Given the description of an element on the screen output the (x, y) to click on. 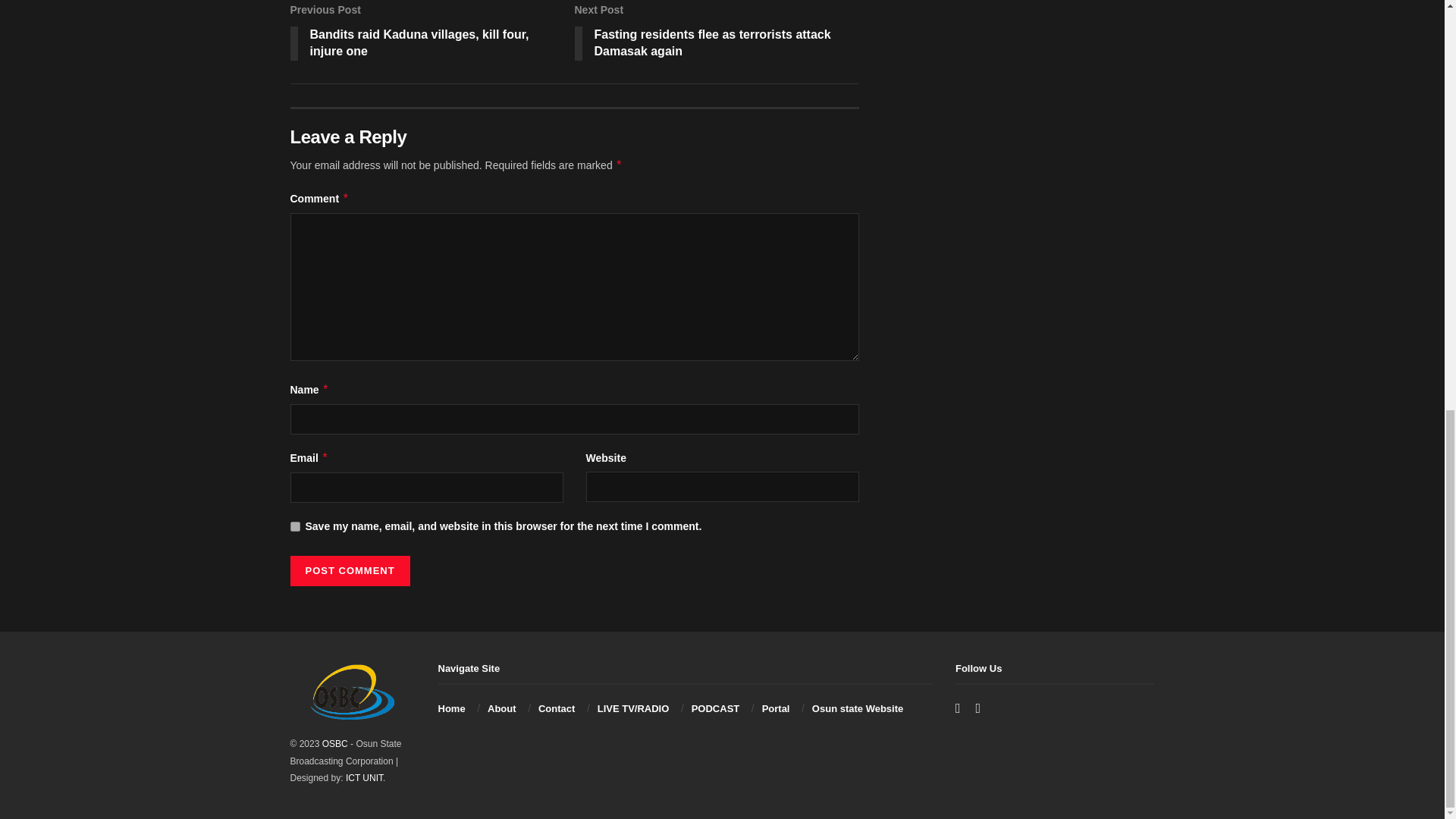
yes (294, 526)
Osun State Broadcasting Corporation (334, 743)
Post Comment (349, 571)
ICT UNIT (364, 777)
